Given the description of an element on the screen output the (x, y) to click on. 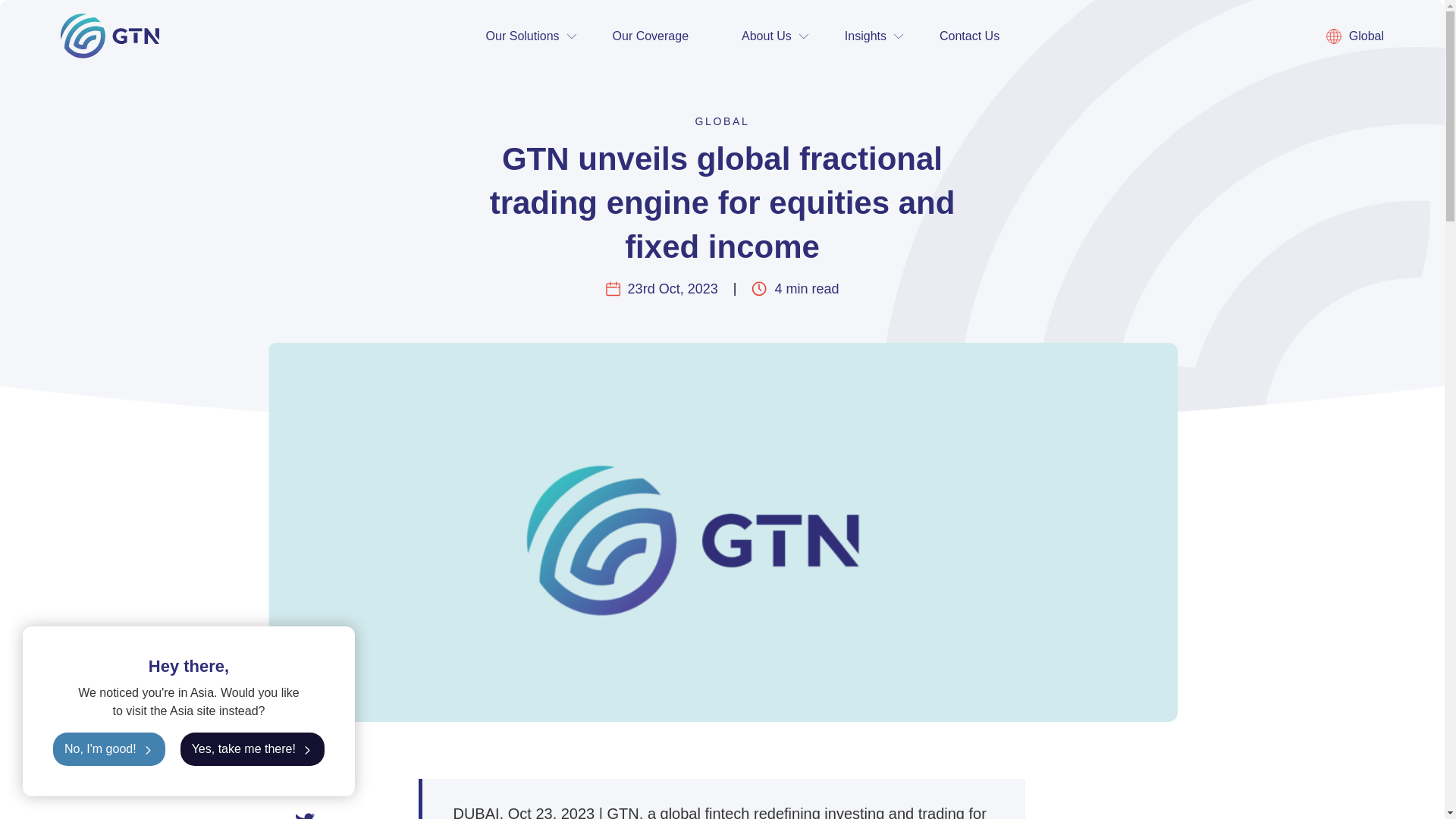
About Us (766, 36)
Insights (865, 36)
Yes, take me there! (252, 748)
Contact Us (969, 36)
Global (1355, 36)
No, I'm good! (108, 748)
Our Solutions (523, 36)
Our Coverage (651, 36)
